Given the description of an element on the screen output the (x, y) to click on. 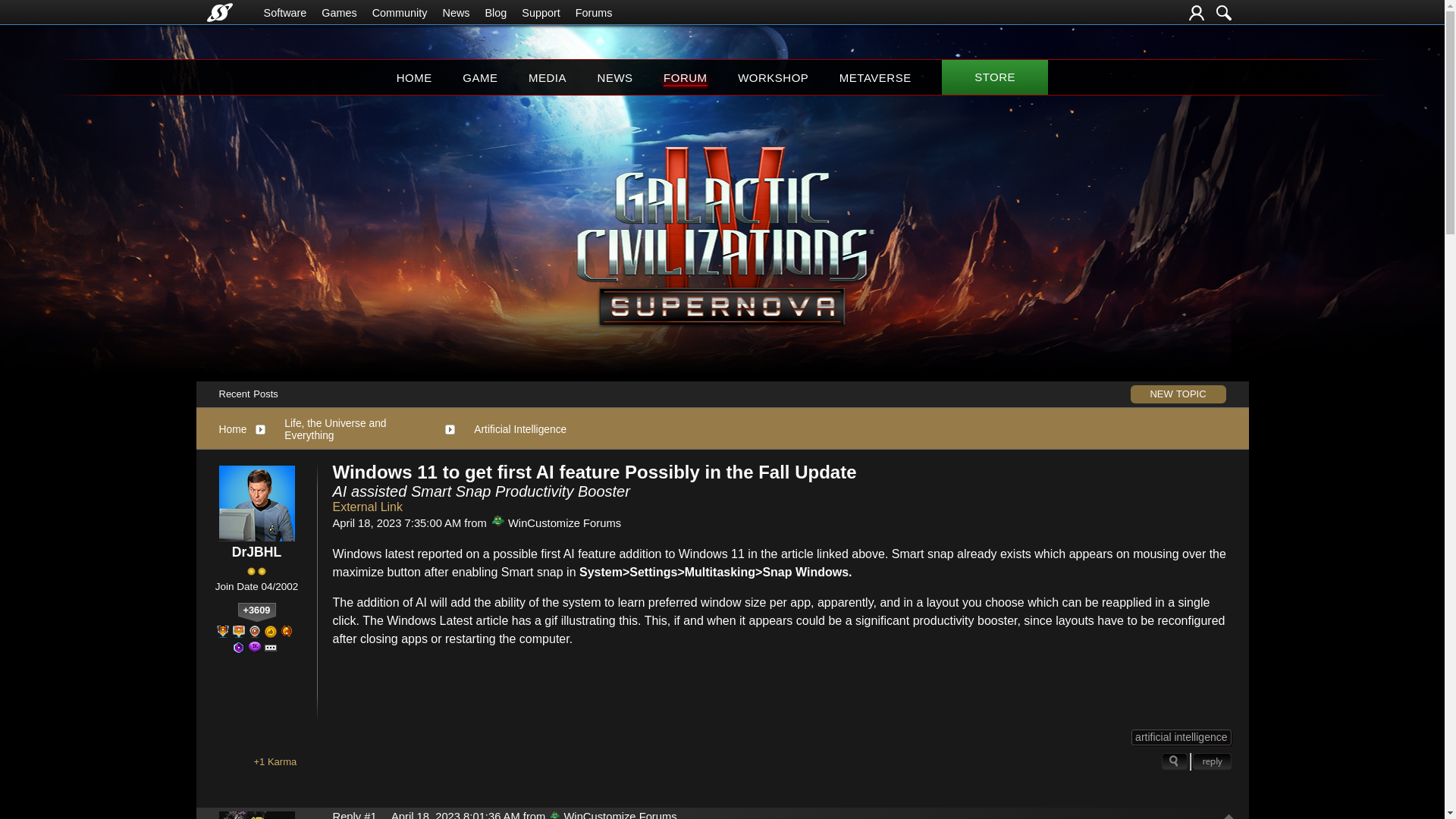
Login or Create Account (1196, 11)
Precious - Received 1,000 Total Karma (270, 631)
Stardock Home (218, 12)
Search Forums (1223, 11)
Community (400, 12)
View all awards (270, 647)
Rank: 7 (256, 571)
Super Active Commenter - Replied over 1,000 times (254, 647)
Experienced Poster - Created 500 Posts (238, 647)
Software (285, 12)
View DrJBHL's Karma (257, 612)
WinCustomize Forums (497, 521)
